Given the description of an element on the screen output the (x, y) to click on. 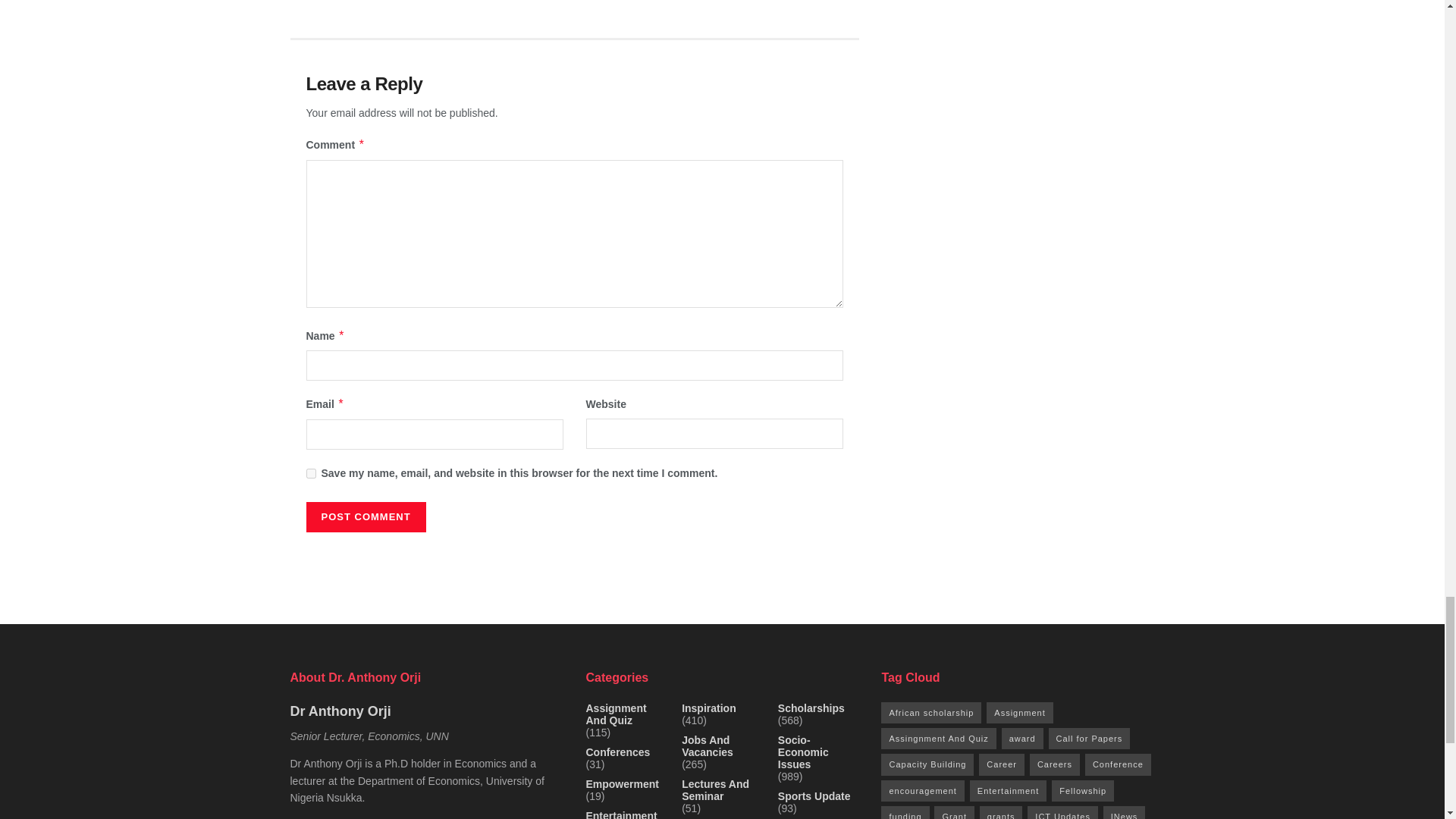
yes (310, 473)
Post Comment (365, 517)
